Given the description of an element on the screen output the (x, y) to click on. 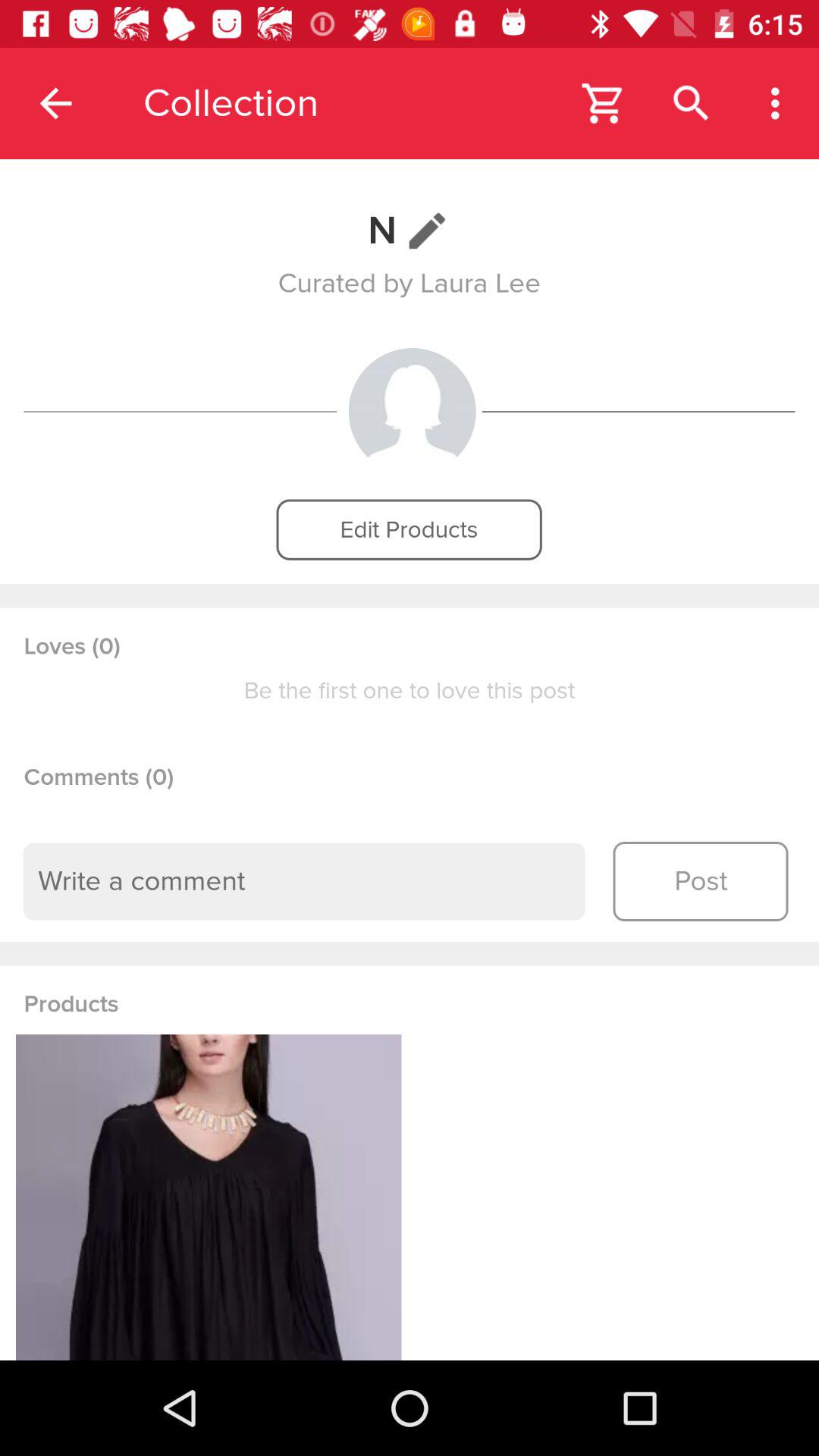
drop your comment (304, 881)
